Given the description of an element on the screen output the (x, y) to click on. 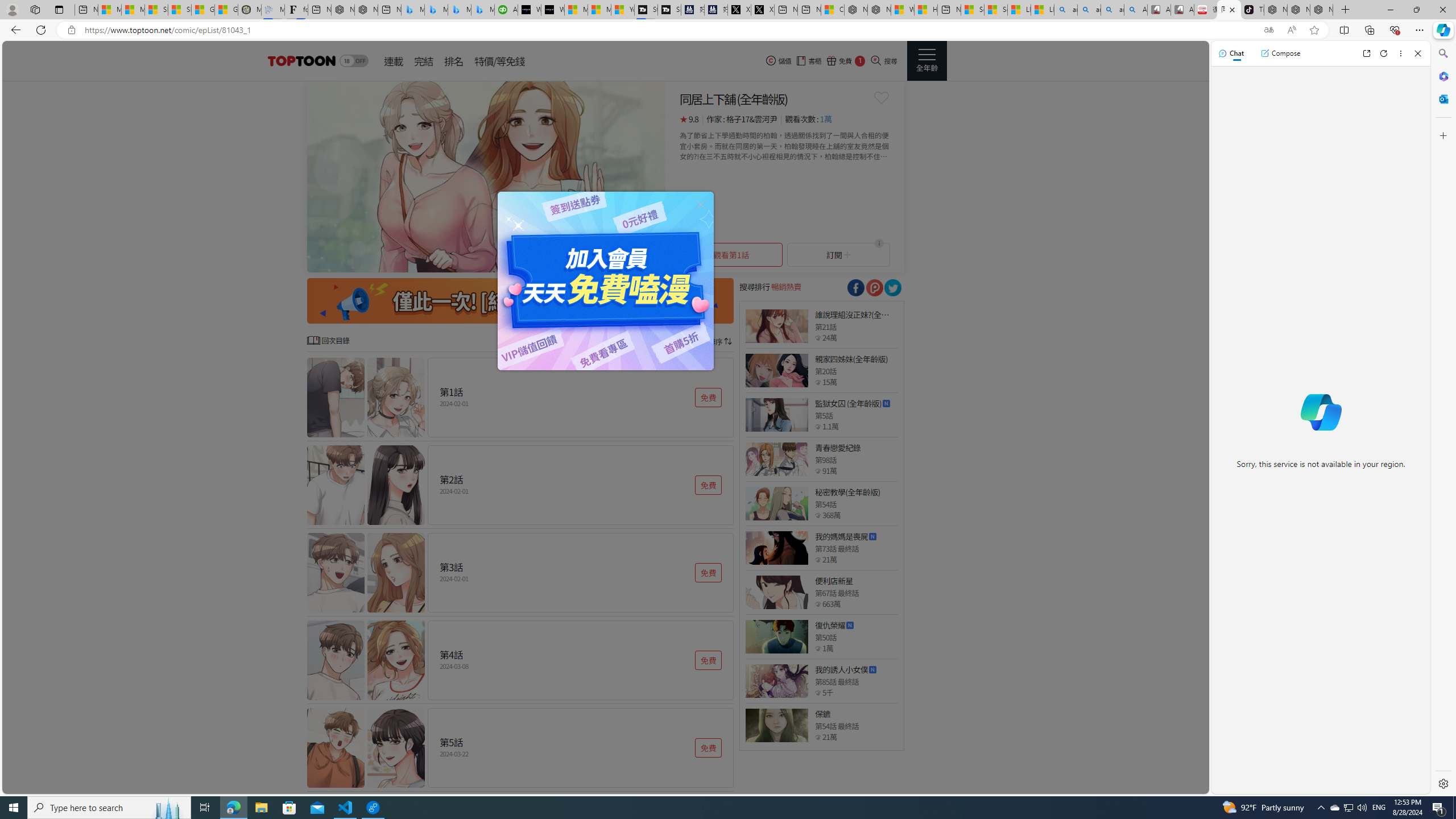
Class: swiper-slide (486, 176)
